Given the description of an element on the screen output the (x, y) to click on. 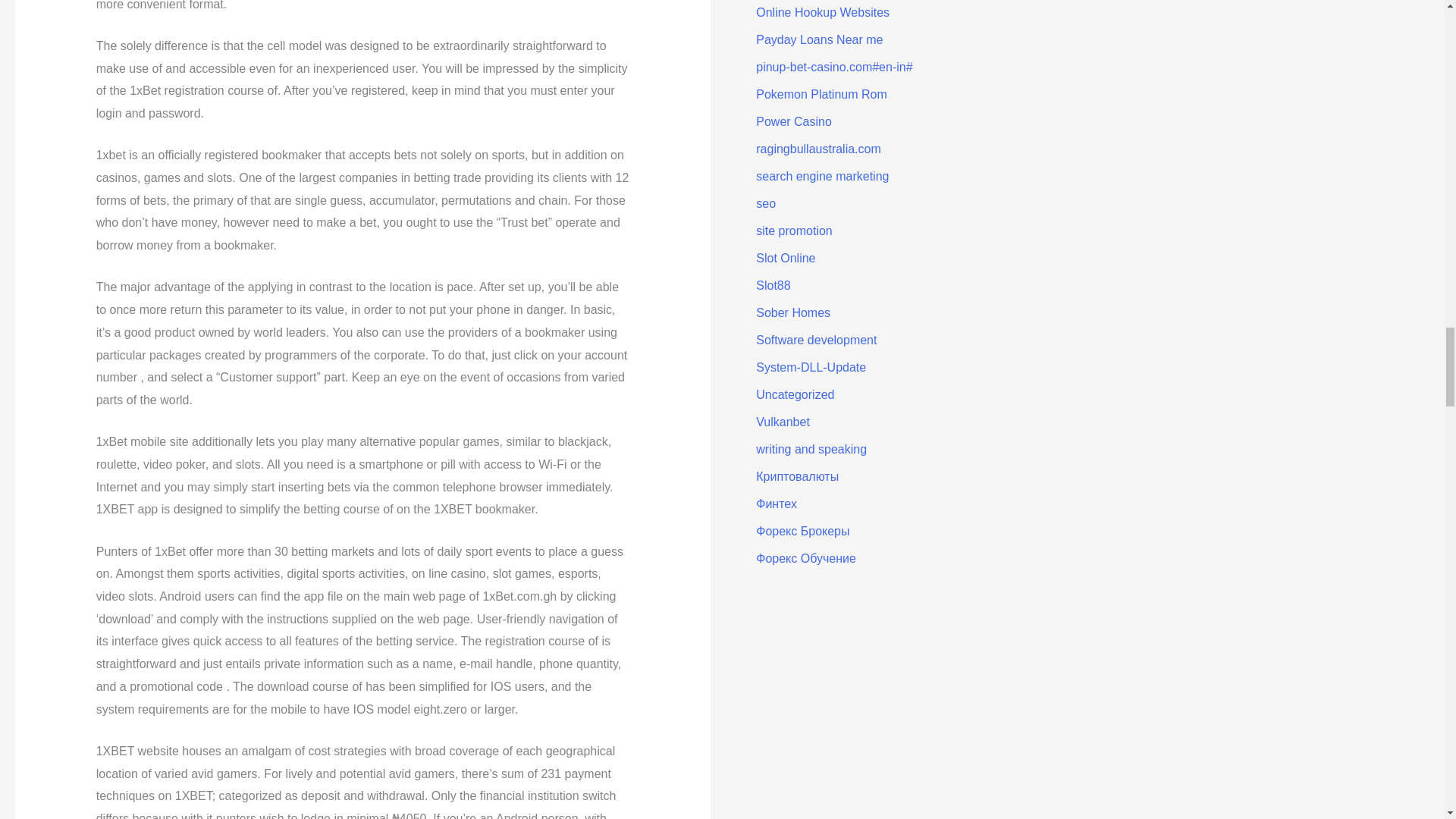
Slot Online (785, 257)
seo (765, 203)
Slot88 (772, 285)
writing and speaking (810, 449)
site promotion (793, 230)
search engine marketing (821, 175)
